Given the description of an element on the screen output the (x, y) to click on. 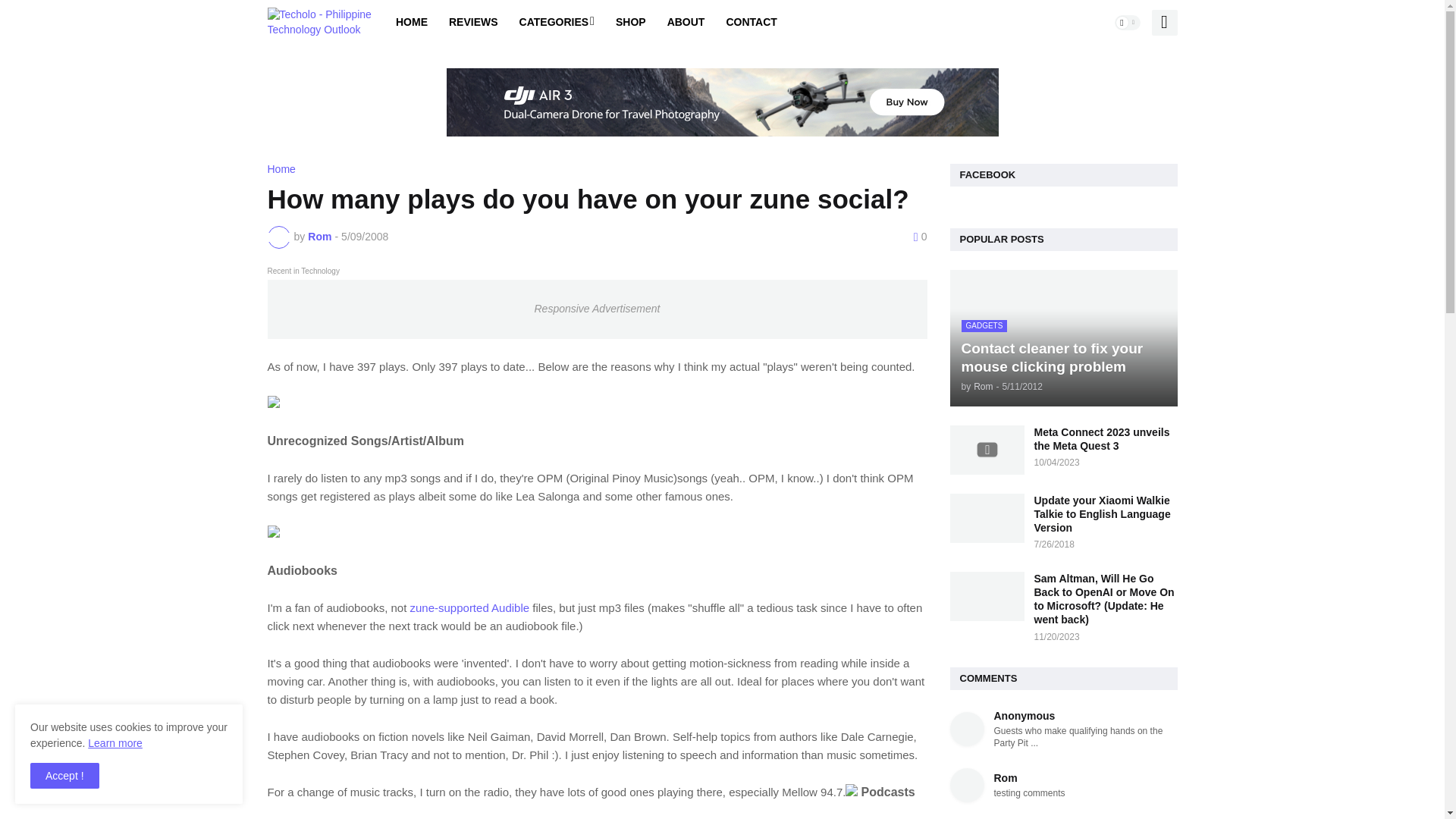
Techolo - Philippine Technology Outlook Blog (320, 22)
Contact cleaner to fix your mouse clicking problem (1062, 338)
zune-supported (448, 607)
CATEGORIES (556, 22)
HOME (411, 22)
REVIEWS (473, 22)
Meta Connect 2023 unveils the Meta Quest 3 (986, 450)
ABOUT (686, 22)
Search (1163, 22)
Audible (510, 607)
Responsive Advertisement (596, 309)
CONTACT (750, 22)
Home (280, 168)
SHOP (630, 22)
